Given the description of an element on the screen output the (x, y) to click on. 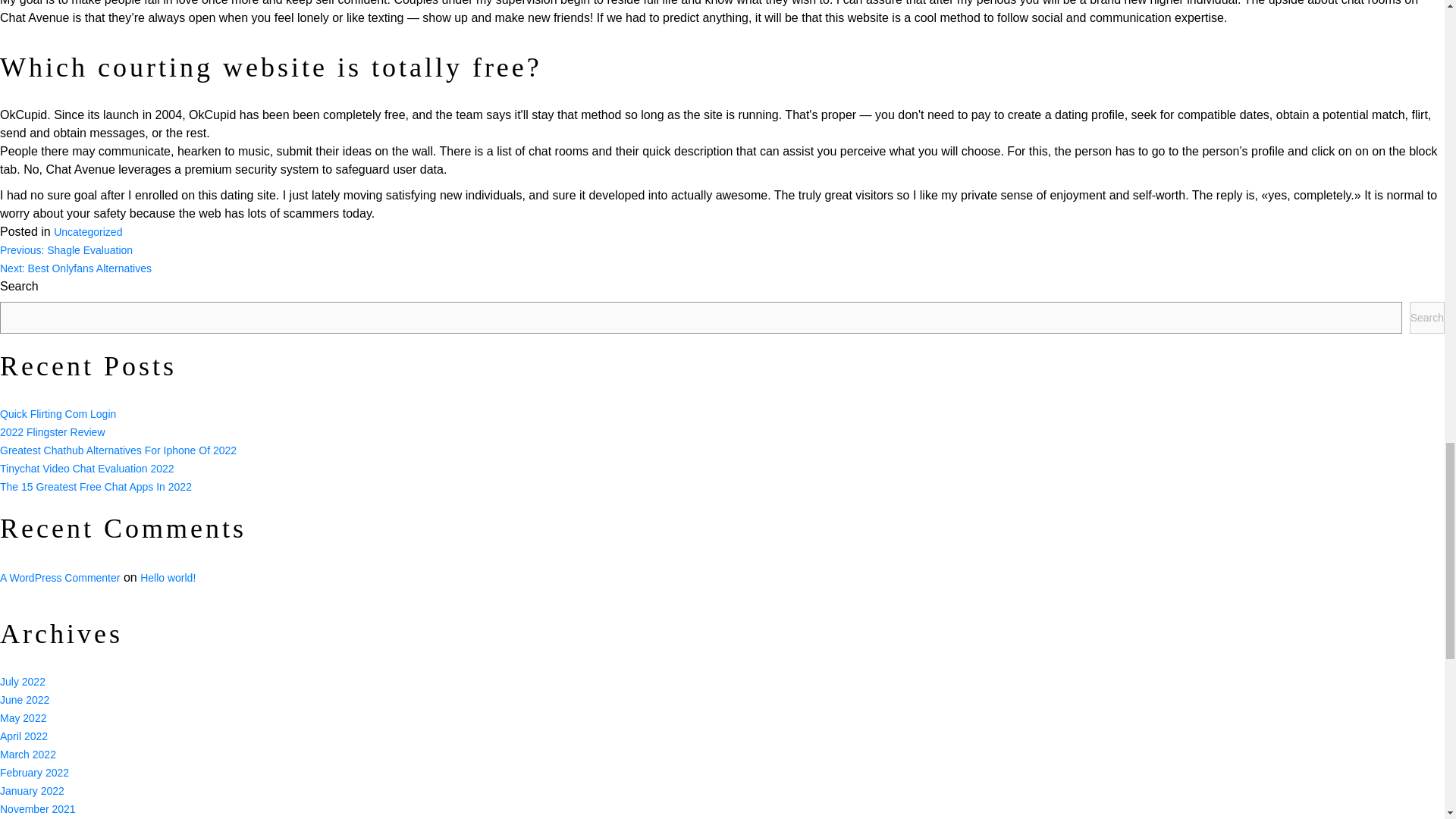
A WordPress Commenter (59, 577)
2022 Flingster Review (52, 431)
Hello world! (167, 577)
Quick Flirting Com Login (58, 413)
February 2022 (34, 772)
Uncategorized (87, 232)
Previous: Shagle Evaluation (66, 250)
July 2022 (22, 681)
Greatest Chathub Alternatives For Iphone Of 2022 (117, 450)
March 2022 (28, 754)
